Given the description of an element on the screen output the (x, y) to click on. 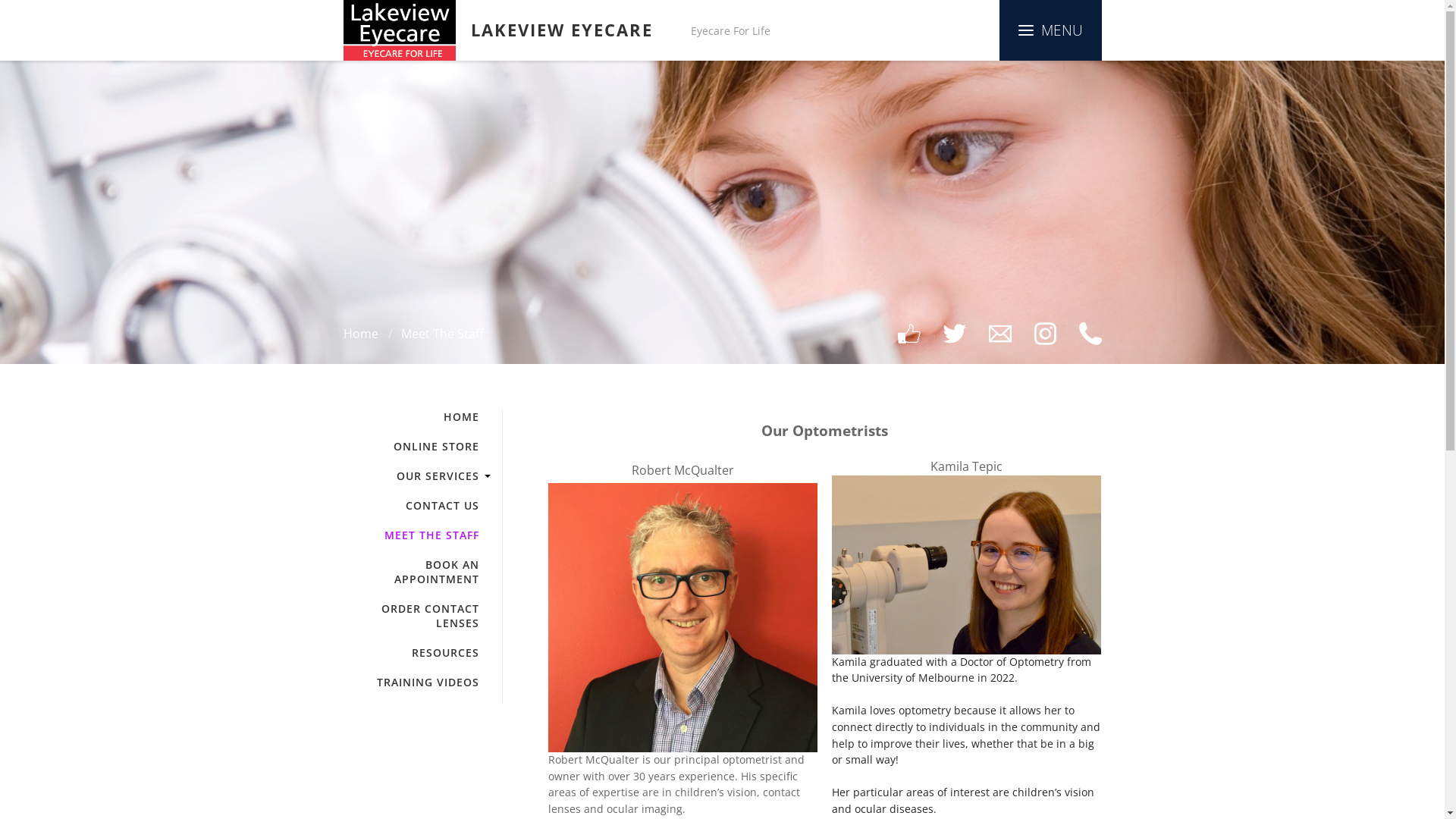
Meet The Staff Element type: text (441, 333)
RESOURCES Element type: text (410, 652)
HOME Element type: text (410, 416)
OUR SERVICES Element type: text (410, 475)
MEET THE STAFF Element type: text (410, 534)
ORDER CONTACT LENSES Element type: text (410, 615)
TRAINING VIDEOS Element type: text (410, 681)
Home Element type: text (359, 333)
ONLINE STORE Element type: text (410, 446)
BOOK AN APPOINTMENT Element type: text (410, 571)
CONTACT US Element type: text (410, 505)
